Given the description of an element on the screen output the (x, y) to click on. 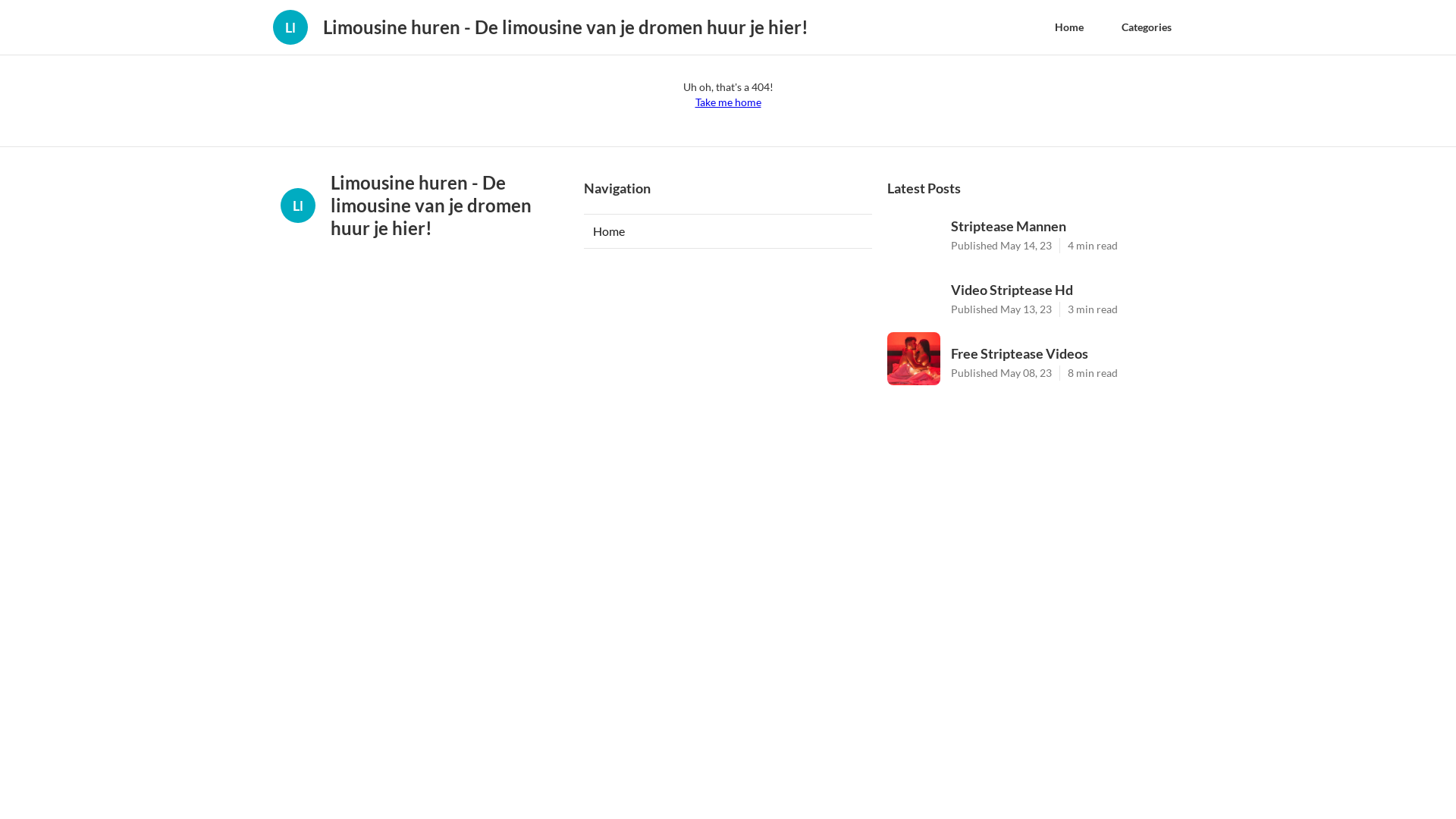
Striptease Mannen Element type: text (1062, 225)
Video Striptease Hd Element type: text (1062, 289)
Categories Element type: text (1146, 26)
Free Striptease Videos Element type: text (1062, 353)
Home Element type: text (727, 230)
Home Element type: text (1069, 26)
Take me home Element type: text (727, 101)
